Given the description of an element on the screen output the (x, y) to click on. 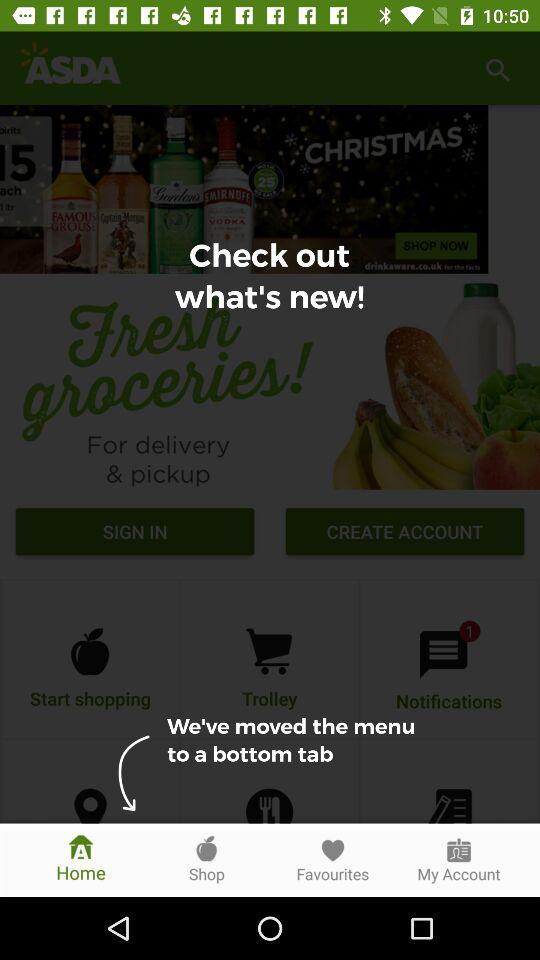
click icon next to create account (134, 534)
